Given the description of an element on the screen output the (x, y) to click on. 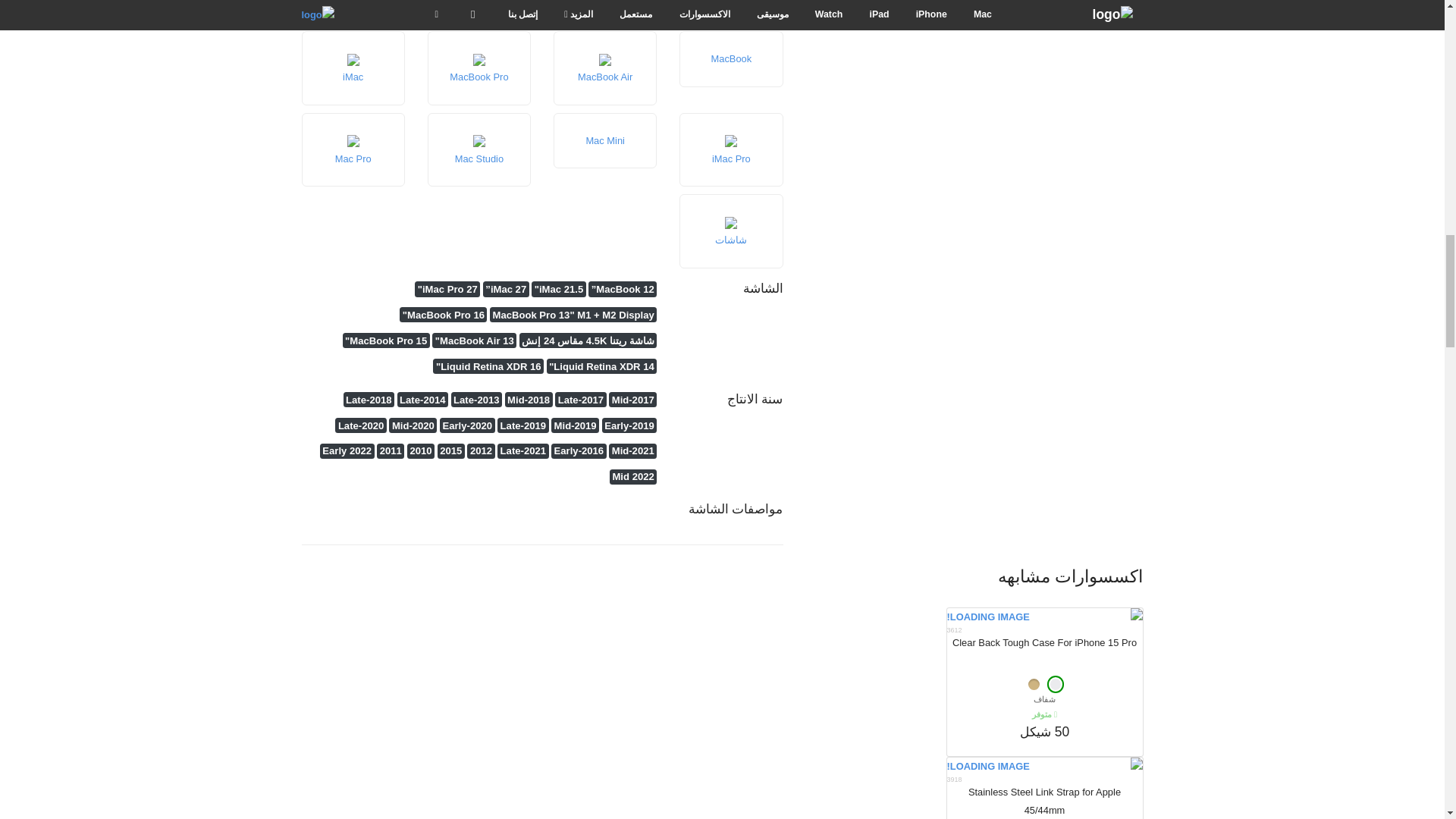
62 (1055, 684)
331 (1033, 684)
